Given the description of an element on the screen output the (x, y) to click on. 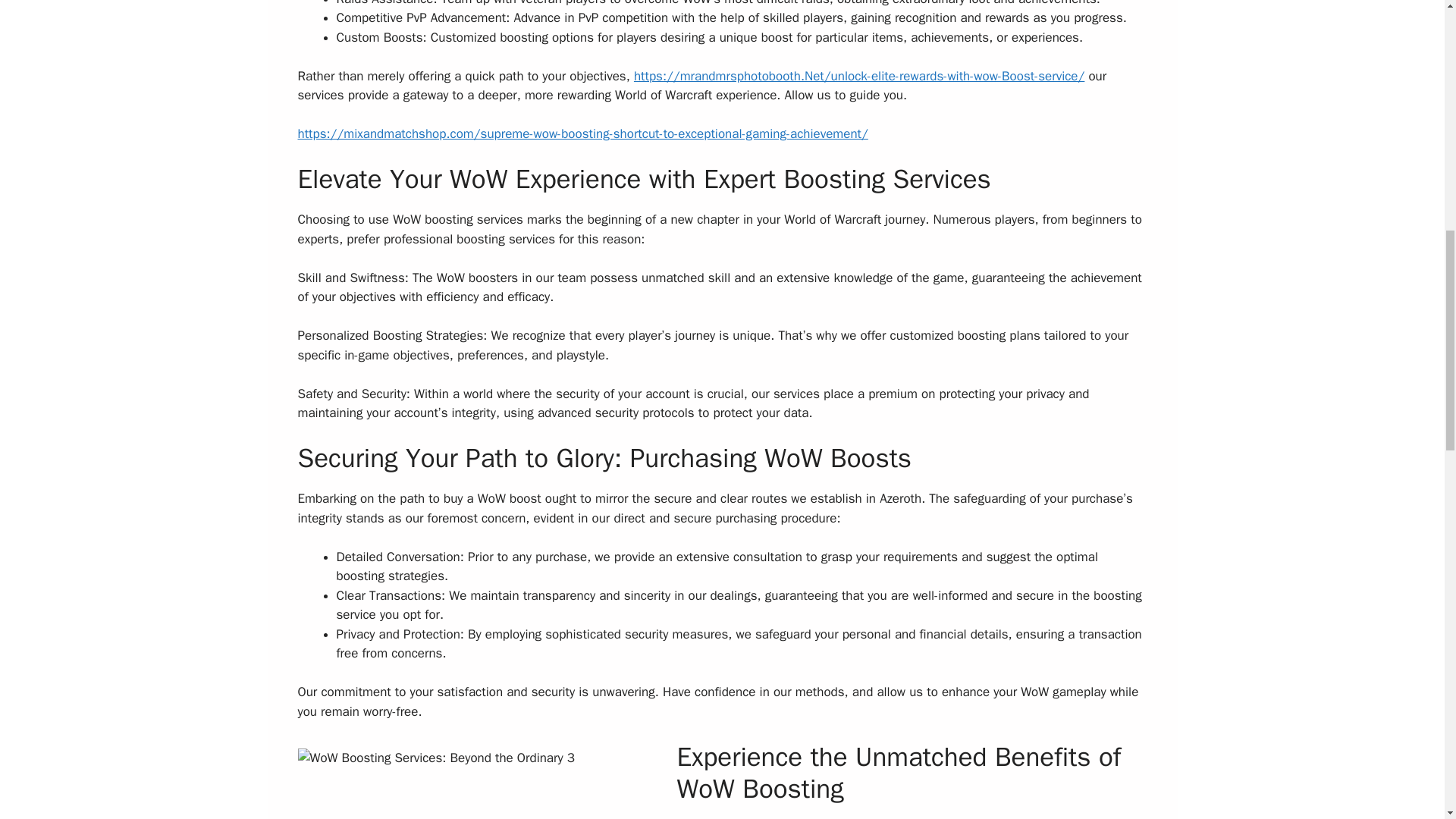
Scroll back to top (1406, 720)
WoW Boosting Services: Beyond the Ordinary 3 (487, 780)
